Given the description of an element on the screen output the (x, y) to click on. 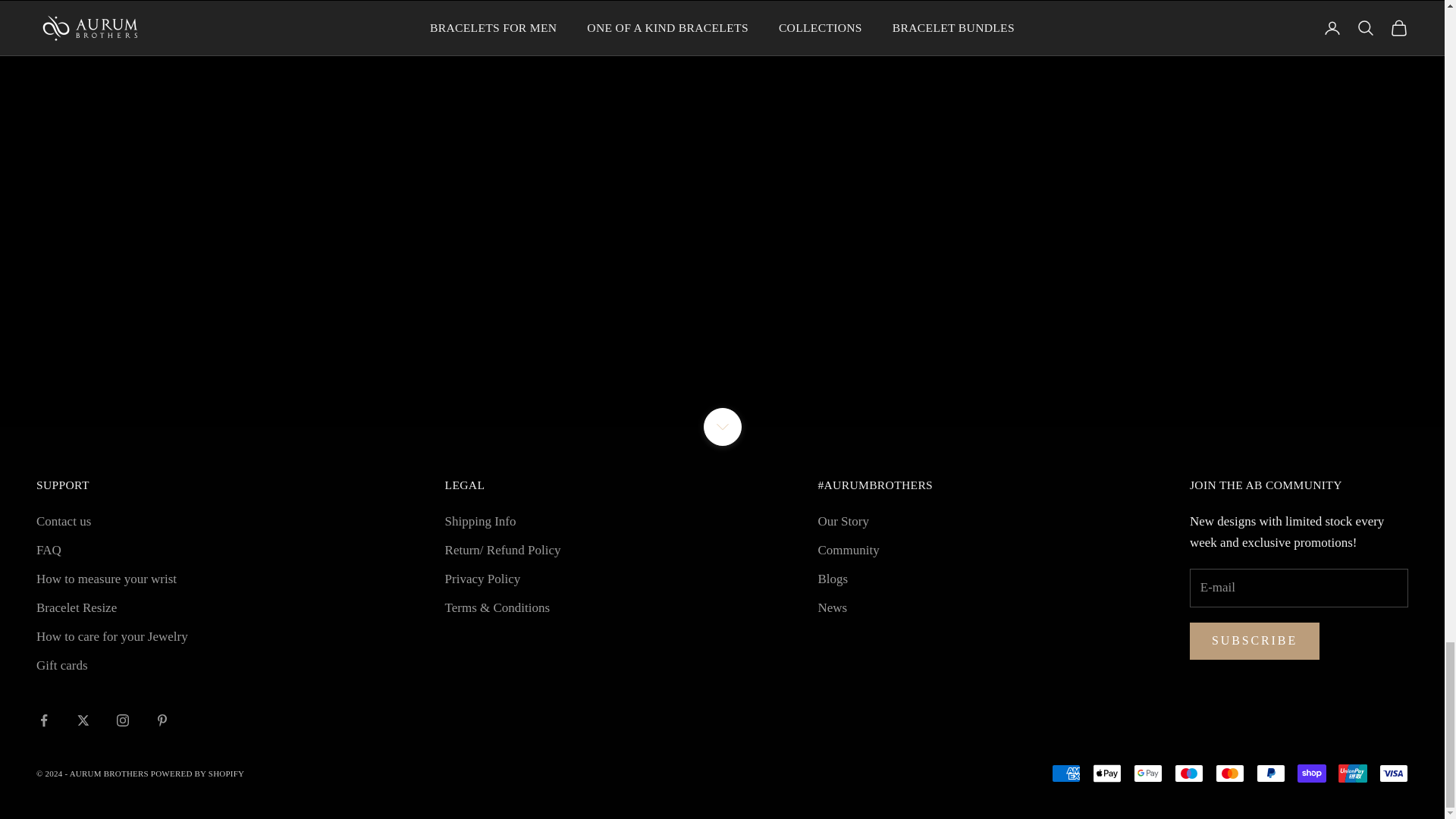
Bracelet Resize (76, 607)
Our Story (842, 521)
FAQ (48, 549)
How to care for your Jewelry (111, 636)
Blogs (831, 578)
Navigate to next section (722, 426)
Privacy Policy (483, 578)
Contact us (63, 521)
Gift cards (61, 665)
Shipping Info (480, 521)
